Given the description of an element on the screen output the (x, y) to click on. 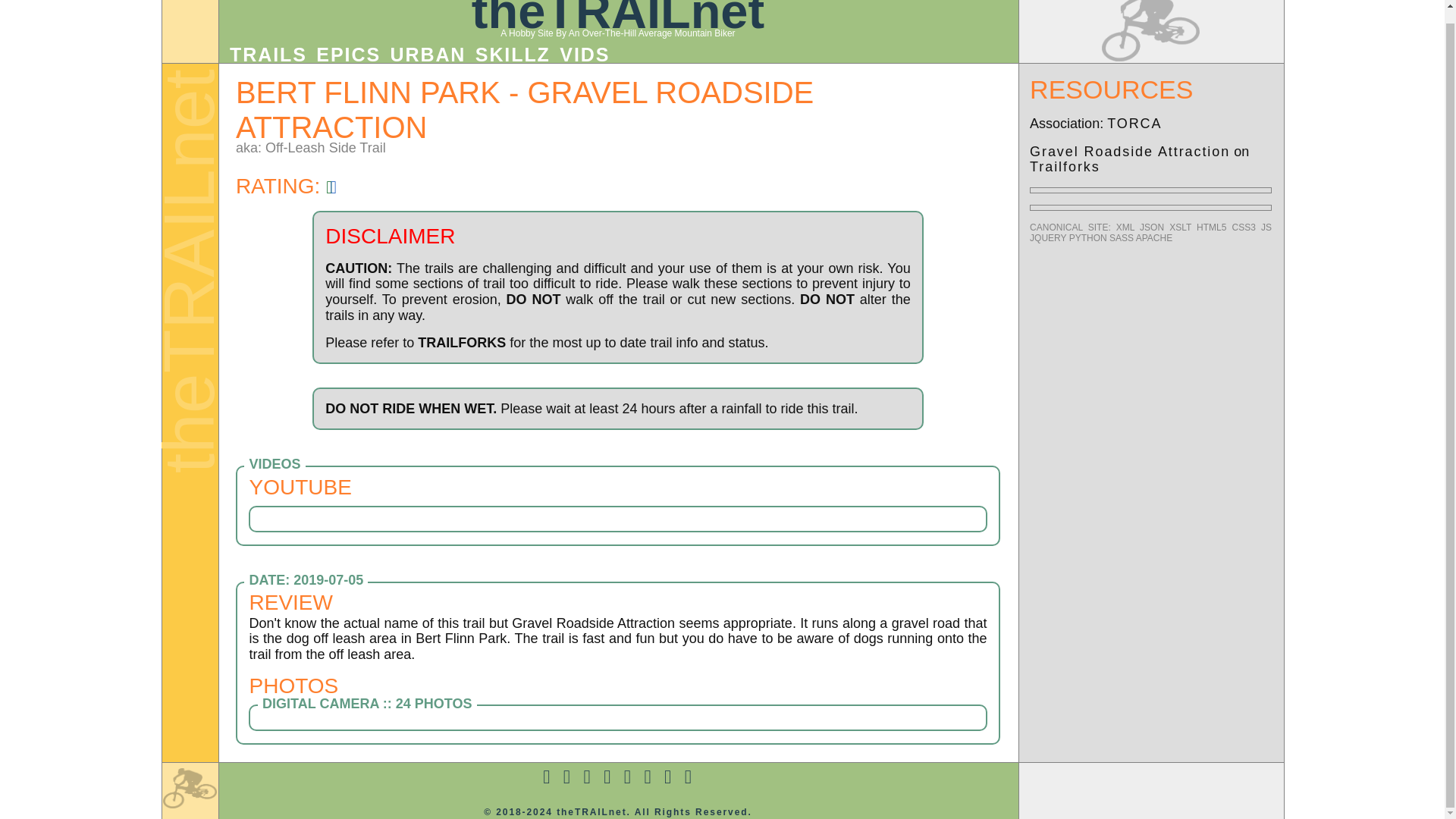
SKILLZ (513, 54)
TRAILS (268, 54)
EPICS (347, 54)
Begineer to Intermediate (285, 186)
BERT FLINN PARK (367, 92)
theTRAILnet (617, 19)
VIDS (584, 54)
URBAN (427, 54)
Trailforks (1064, 166)
TRAILFORKS (461, 342)
